Given the description of an element on the screen output the (x, y) to click on. 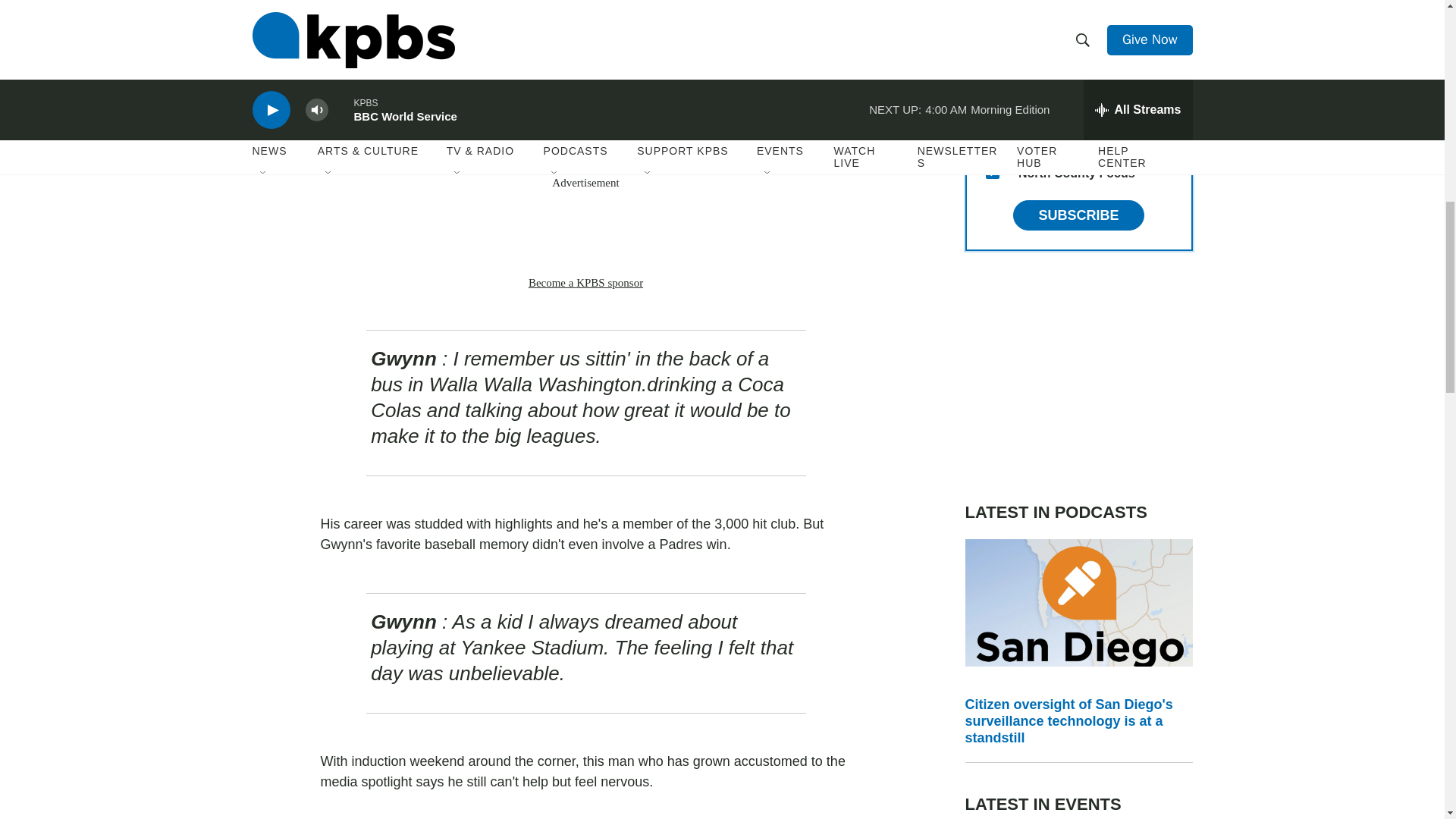
3rd party ad content (584, 232)
15 (991, 172)
8 (991, 135)
2 (991, 62)
6 (991, 26)
1 (991, 99)
3rd party ad content (1077, 375)
